Given the description of an element on the screen output the (x, y) to click on. 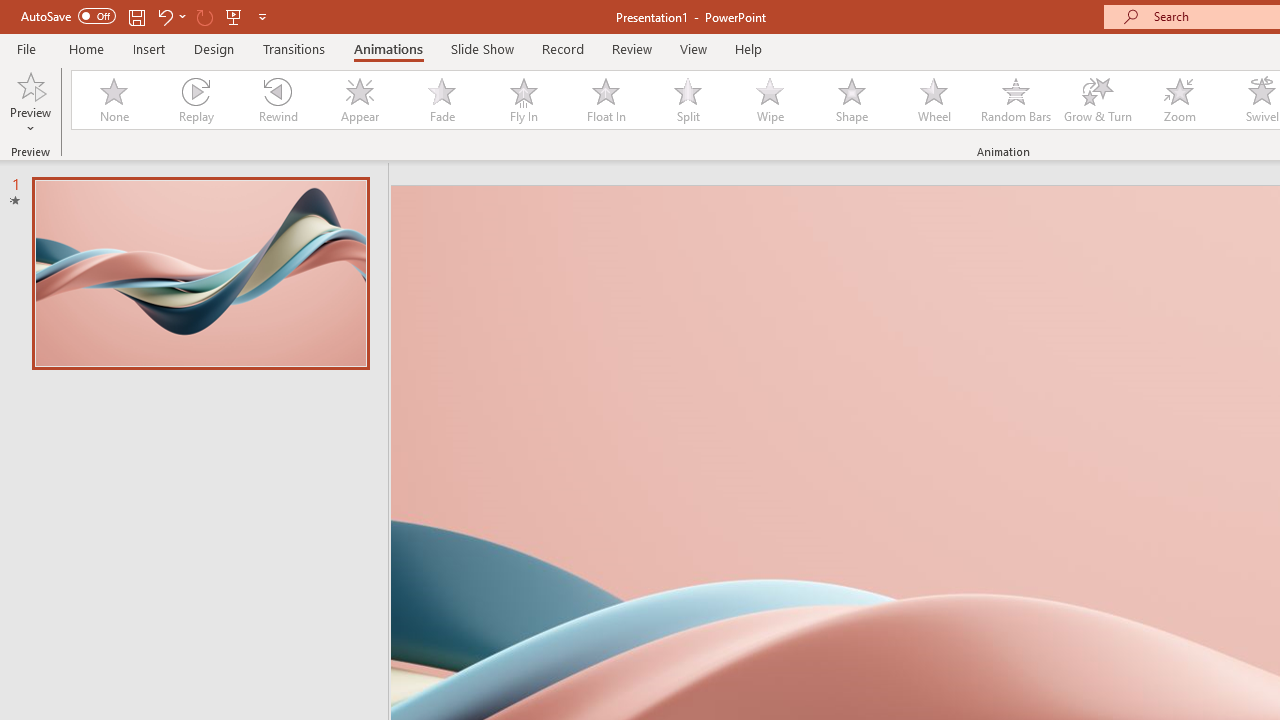
Random Bars (1016, 100)
Fly In (523, 100)
None (113, 100)
